Given the description of an element on the screen output the (x, y) to click on. 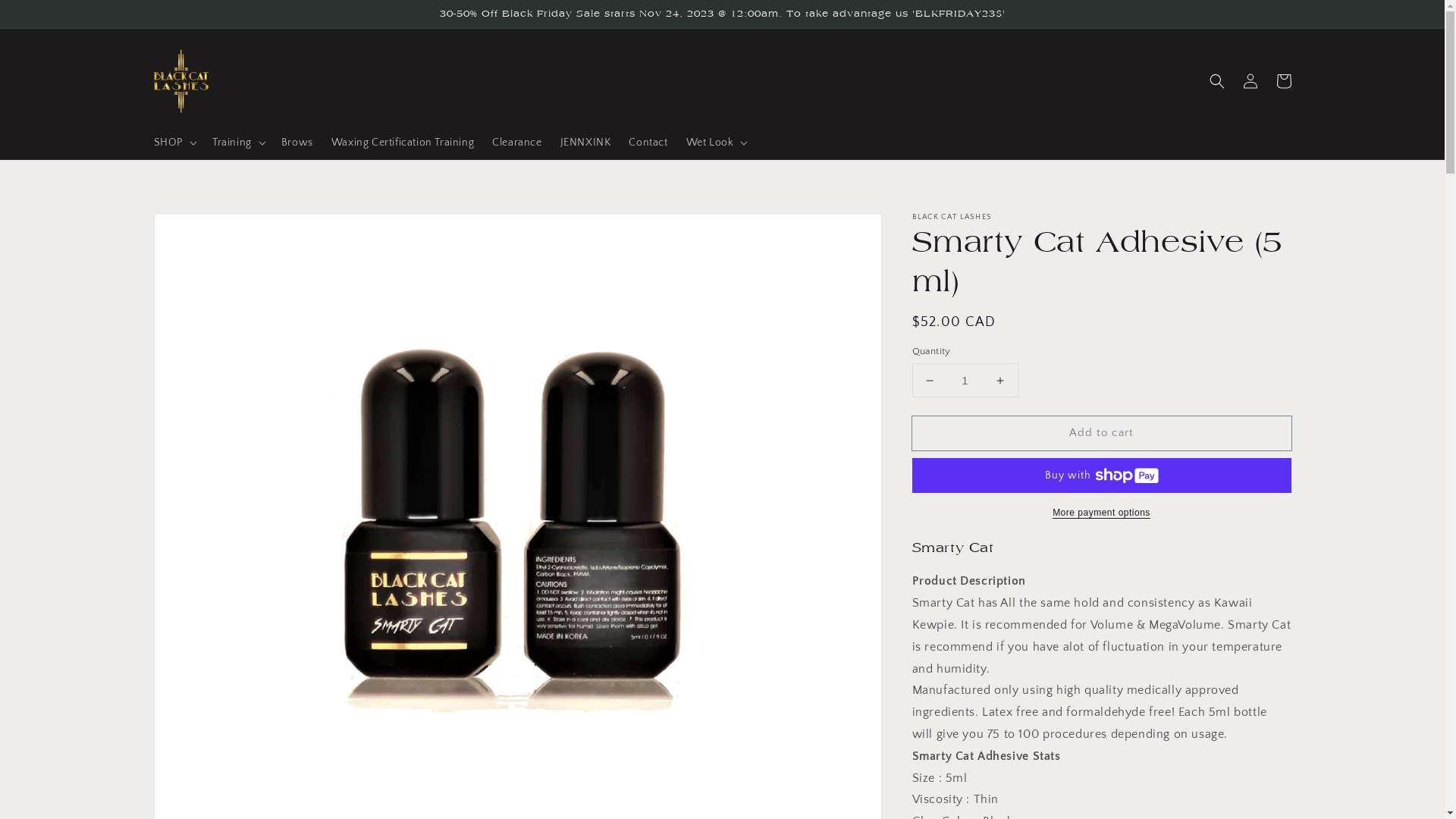
Clearance Element type: text (516, 142)
Increase quantity for Smarty Cat Adhesive (5 ml) Element type: text (999, 380)
More payment options Element type: text (1100, 512)
Add to cart Element type: text (1100, 433)
Decrease quantity for Smarty Cat Adhesive (5 ml) Element type: text (930, 380)
Cart Element type: text (1282, 80)
Waxing Certification Training Element type: text (402, 142)
JENNXINK Element type: text (585, 142)
Log in Element type: text (1249, 80)
Brows Element type: text (297, 142)
Contact Element type: text (647, 142)
Skip to product information Element type: text (198, 229)
